Given the description of an element on the screen output the (x, y) to click on. 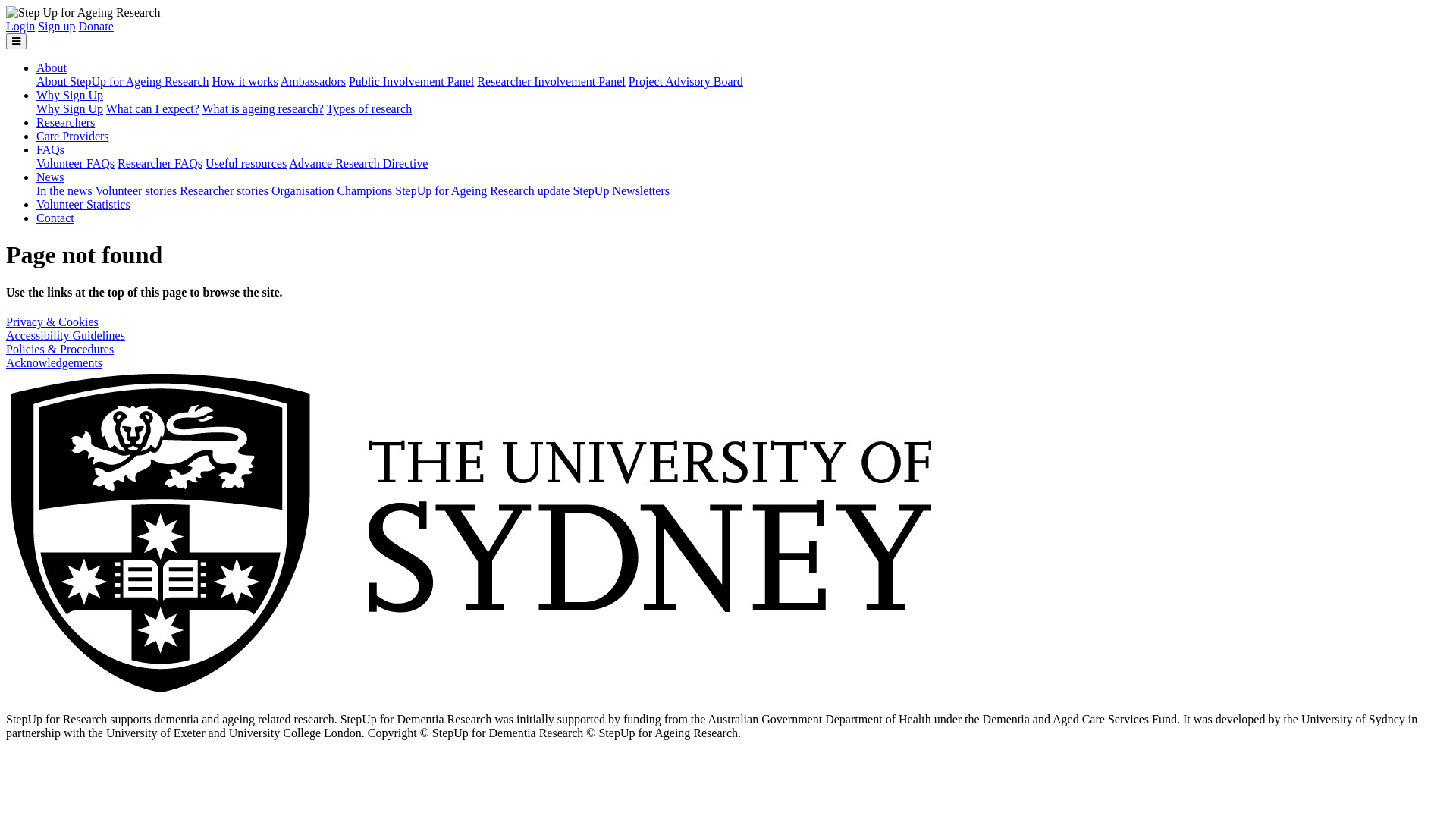
News Element type: text (49, 176)
Sign up Element type: text (56, 25)
Volunteer stories Element type: text (135, 190)
What is ageing research? Element type: text (262, 108)
Types of research Element type: text (369, 108)
Contact Element type: text (55, 217)
About StepUp for Ageing Research Element type: text (122, 81)
Organisation Champions Element type: text (331, 190)
Accessibility Guidelines Element type: text (65, 335)
Login Element type: text (20, 25)
Public Involvement Panel Element type: text (410, 81)
Researcher stories Element type: text (223, 190)
Privacy & Cookies Element type: text (52, 321)
Why Sign Up Element type: text (69, 108)
Researcher FAQs Element type: text (159, 162)
What can I expect? Element type: text (152, 108)
How it works Element type: text (245, 81)
Advance Research Directive Element type: text (357, 162)
StepUp for Ageing Research update Element type: text (482, 190)
About Element type: text (51, 67)
Donate Element type: text (95, 25)
In the news Element type: text (64, 190)
Useful resources Element type: text (245, 162)
Acknowledgements Element type: text (54, 362)
Ambassadors Element type: text (312, 81)
Volunteer FAQs Element type: text (75, 162)
Volunteer Statistics Element type: text (83, 203)
Why Sign Up Element type: text (69, 94)
Researchers Element type: text (65, 122)
StepUp Newsletters Element type: text (620, 190)
Care Providers Element type: text (72, 135)
Policies & Procedures Element type: text (59, 348)
Researcher Involvement Panel Element type: text (550, 81)
Project Advisory Board Element type: text (685, 81)
FAQs Element type: text (50, 149)
